Given the description of an element on the screen output the (x, y) to click on. 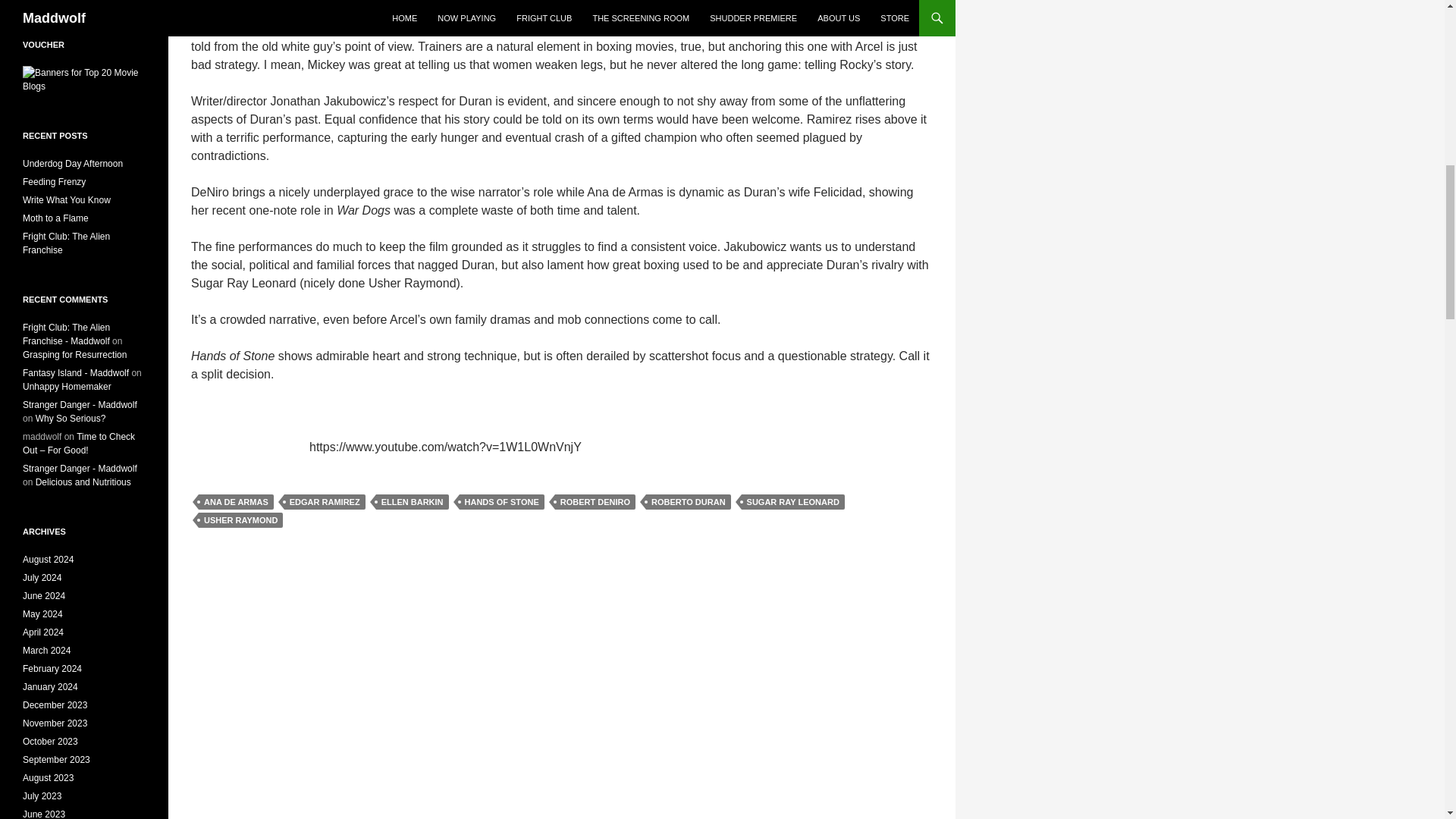
SUGAR RAY LEONARD (792, 501)
Moth to a Flame (55, 217)
HANDS OF STONE (502, 501)
Fright Club: The Alien Franchise - Maddwolf (66, 334)
Grasping for Resurrection (74, 354)
ROBERT DENIRO (594, 501)
EDGAR RAMIREZ (324, 501)
ANA DE ARMAS (235, 501)
Fright Club: The Alien Franchise (66, 242)
Underdog Day Afternoon (72, 163)
